Given the description of an element on the screen output the (x, y) to click on. 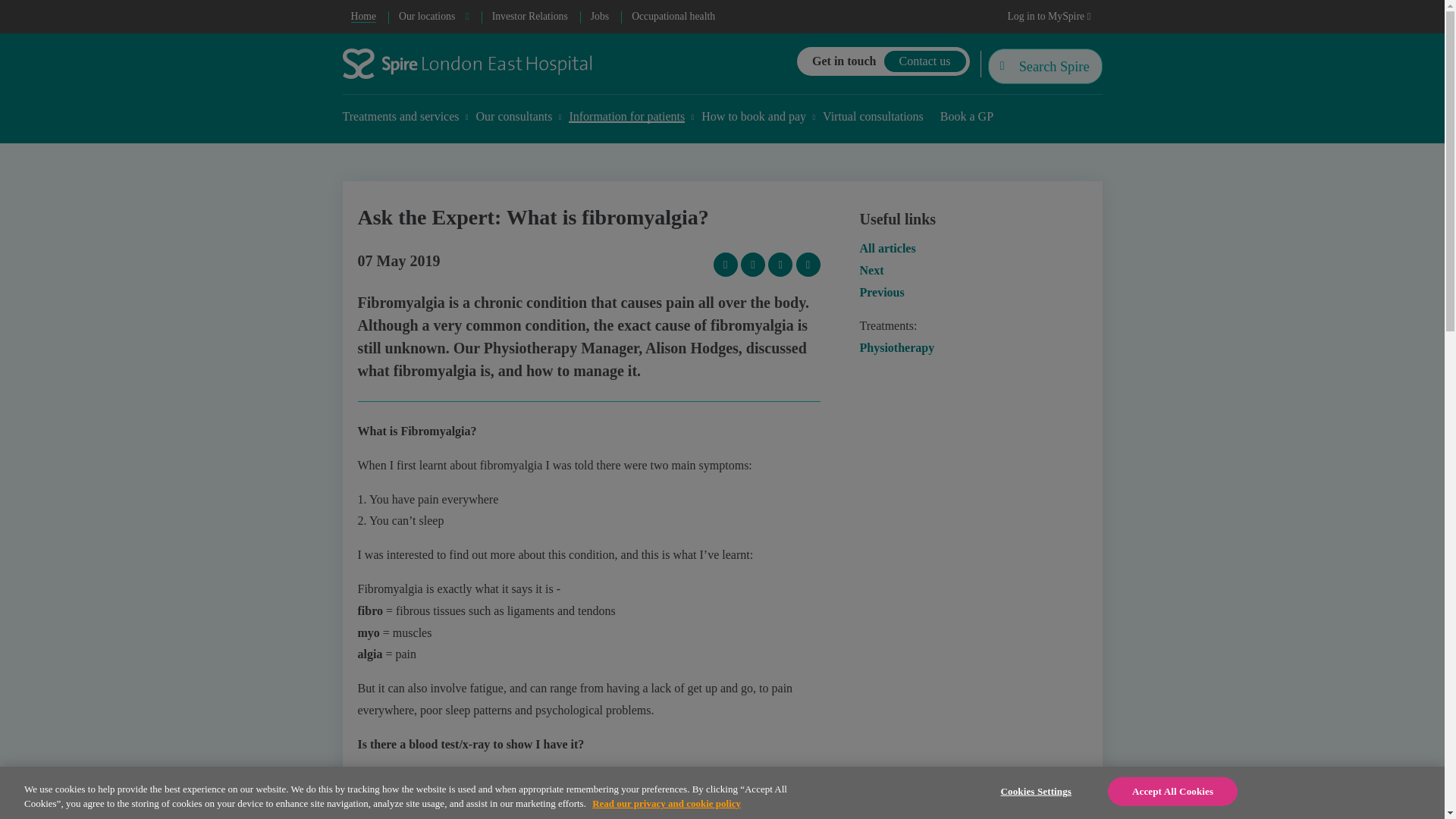
Log in to MySpire (1048, 16)
Home (363, 16)
Investor Relations (529, 16)
Occupational health (673, 16)
Jobs (599, 16)
Our locations (433, 16)
